Given the description of an element on the screen output the (x, y) to click on. 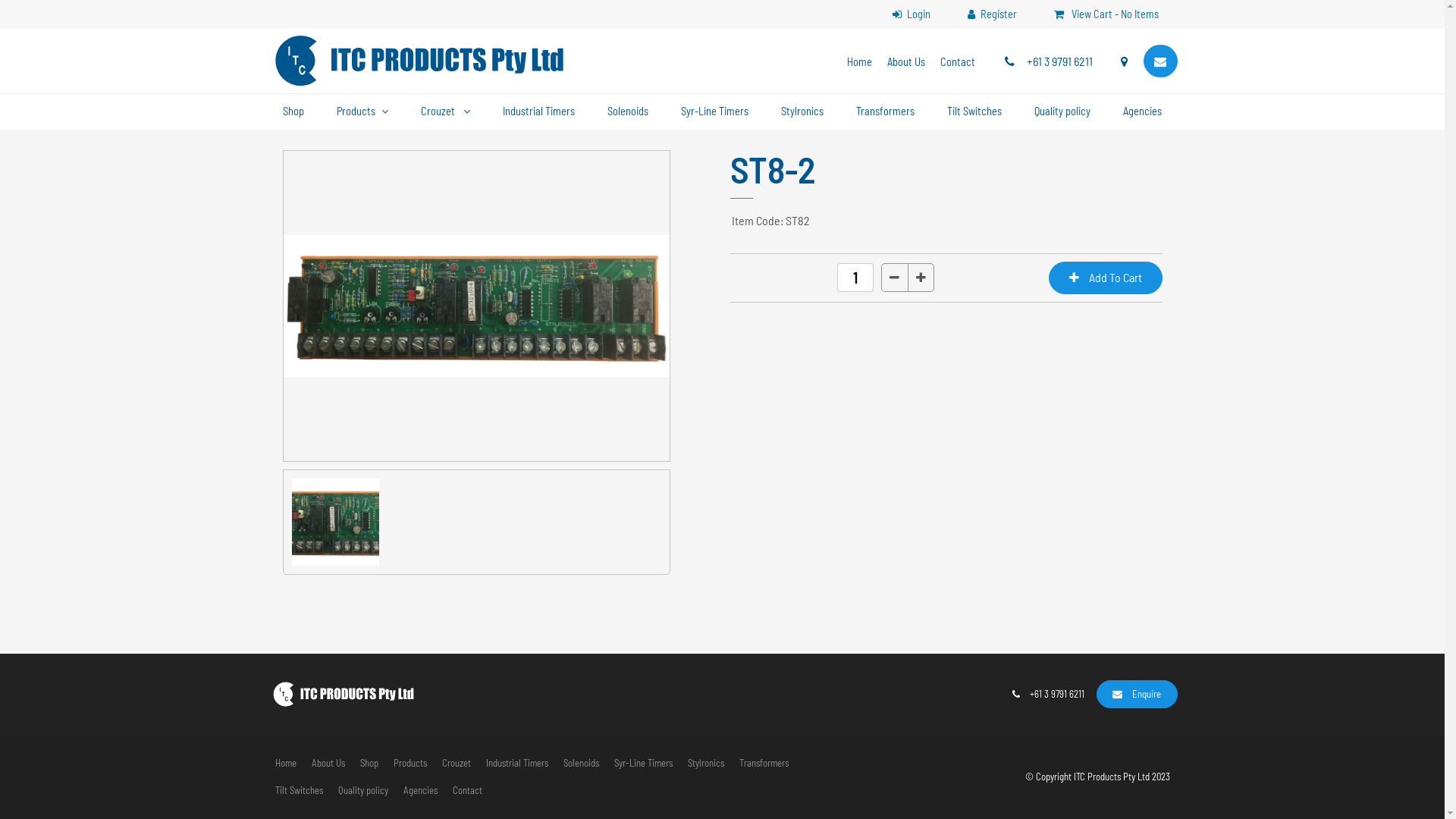
Stylronics Element type: text (802, 111)
Crouzet Element type: text (445, 111)
Solenoids Element type: text (580, 763)
Transformers Element type: text (885, 111)
Industrial Timers Element type: text (538, 111)
Industrial Timers Element type: text (516, 763)
Crouzet Element type: text (455, 763)
Shop Element type: text (292, 111)
Home Element type: text (284, 763)
About Us Element type: text (327, 763)
Enquire Element type: text (1136, 693)
View Cart - No Items Element type: text (1106, 14)
Syr-Line Timers Element type: text (643, 763)
Products Element type: text (409, 763)
Syr-Line Timers Element type: text (714, 111)
Contact Element type: text (466, 790)
Tilt Switches Element type: text (297, 790)
Quality policy Element type: text (1062, 111)
Agencies Element type: text (1142, 111)
Home Element type: text (859, 62)
Contact Element type: text (957, 62)
Solenoids Element type: text (627, 111)
Stylronics Element type: text (705, 763)
Shop Element type: text (368, 763)
Tilt Switches Element type: text (974, 111)
About Us Element type: text (905, 62)
Transformers Element type: text (763, 763)
Products Element type: text (362, 111)
Agencies Element type: text (420, 790)
Quality policy Element type: text (362, 790)
